Given the description of an element on the screen output the (x, y) to click on. 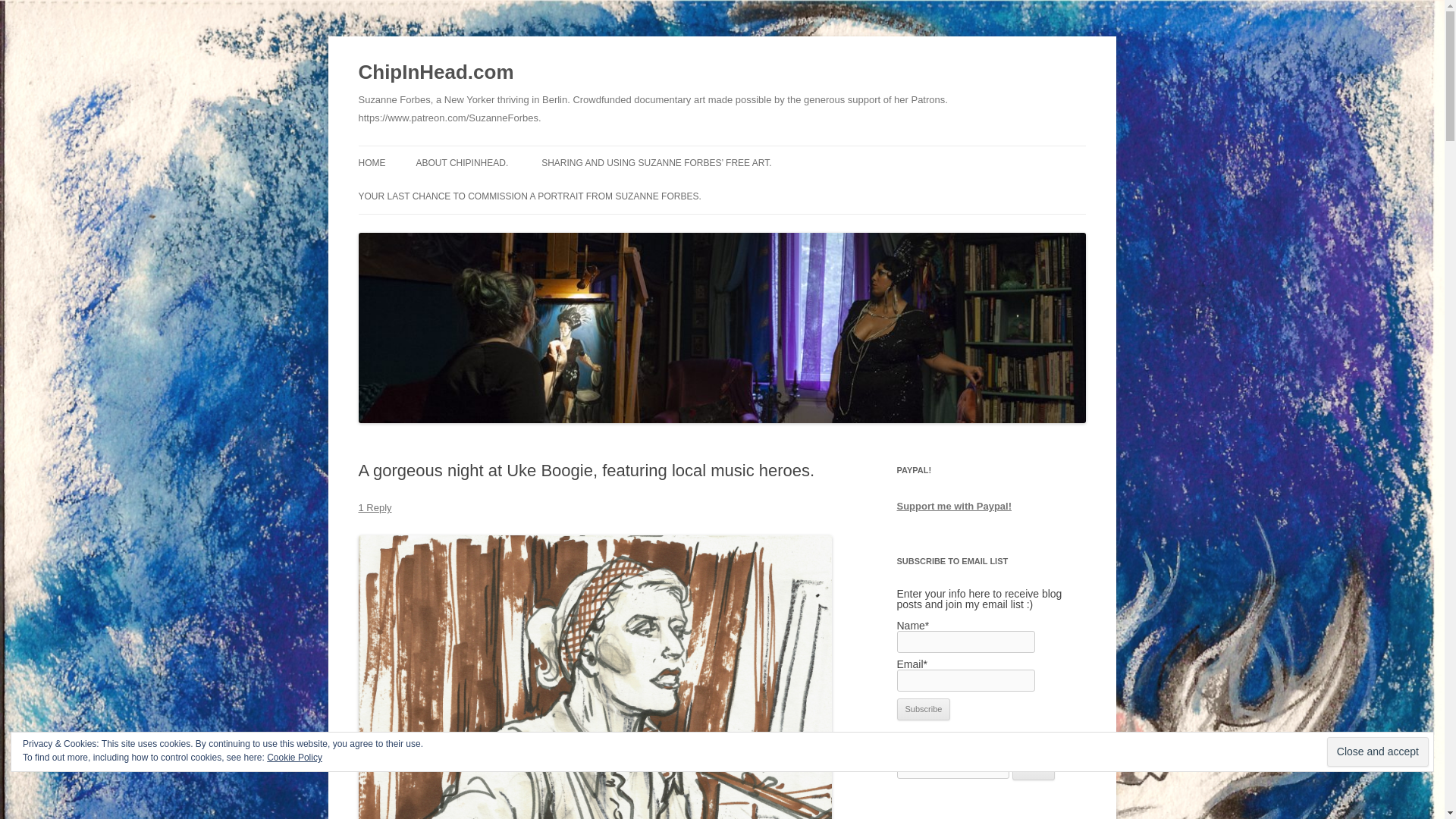
ChipInHead.com (435, 72)
Search (1033, 768)
CHIP IN HEAD, PLEASE. (490, 194)
Subscribe (923, 709)
ABOUT CHIPINHEAD. (461, 162)
1 Reply (374, 507)
ChipInHead.com (435, 72)
Close and accept (1377, 751)
